Given the description of an element on the screen output the (x, y) to click on. 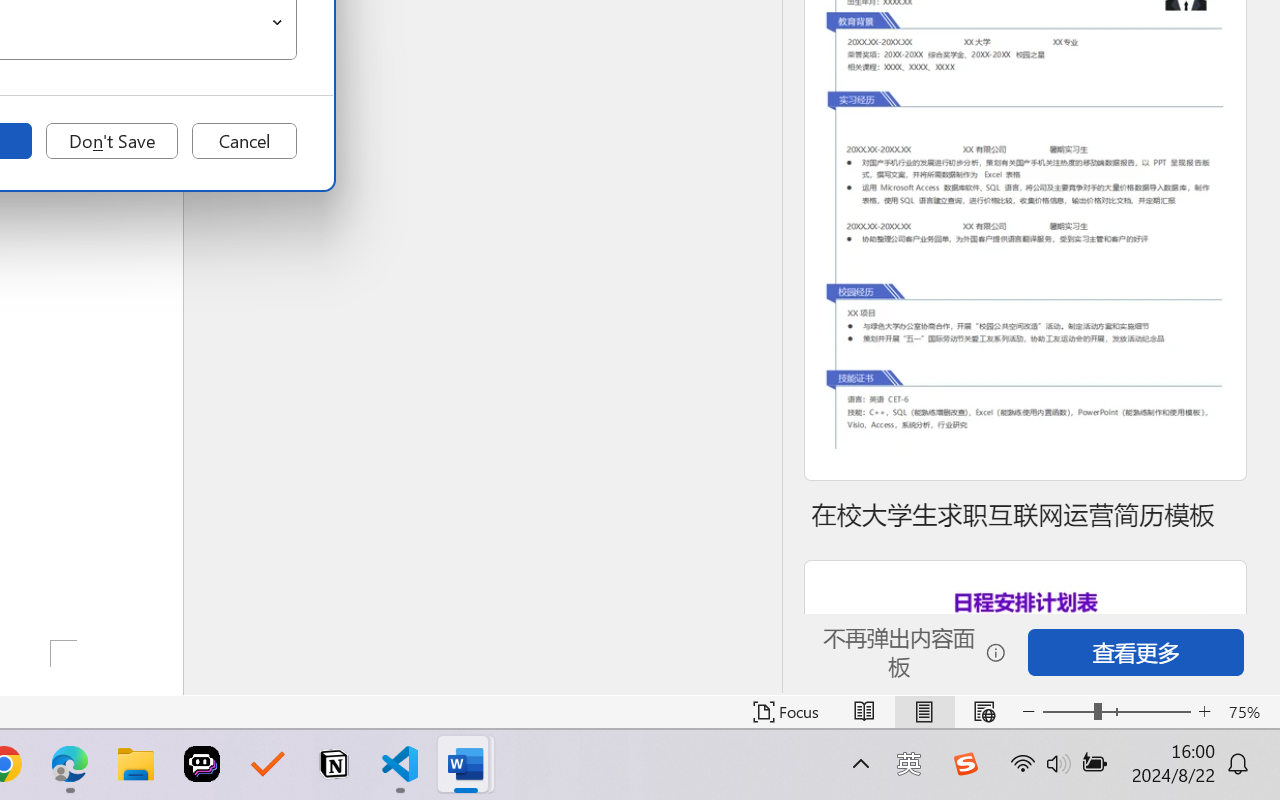
Zoom (1116, 712)
Read Mode (864, 712)
Cancel (244, 141)
Poe (201, 764)
Notion (333, 764)
Print Layout (924, 712)
